Given the description of an element on the screen output the (x, y) to click on. 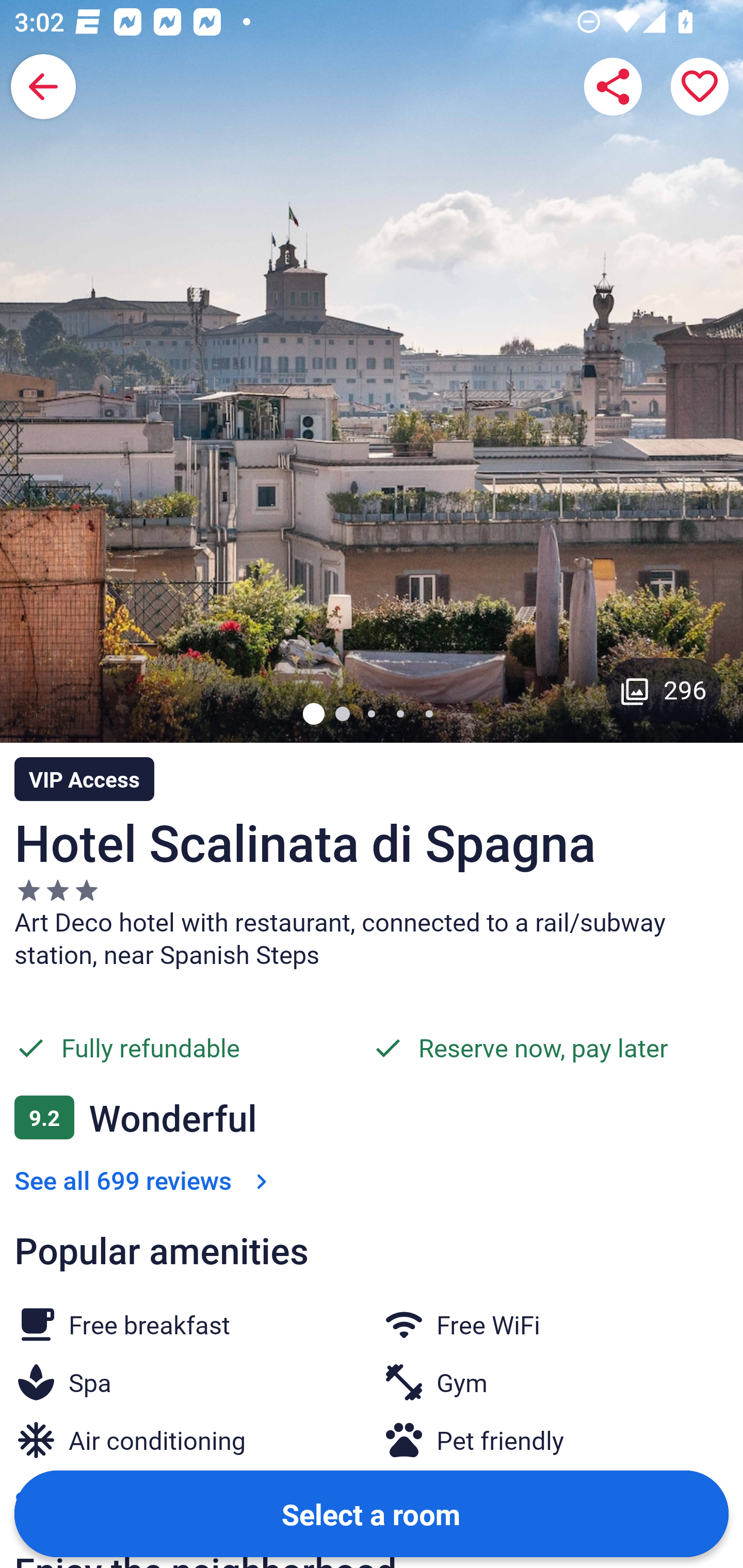
Back (43, 86)
Save property to a trip (699, 86)
Share Hotel Scalinata di Spagna (612, 87)
Gallery button with 296 images (663, 689)
See all 699 reviews See all 699 reviews Link (144, 1179)
Select a room Button Select a room (371, 1513)
